Given the description of an element on the screen output the (x, y) to click on. 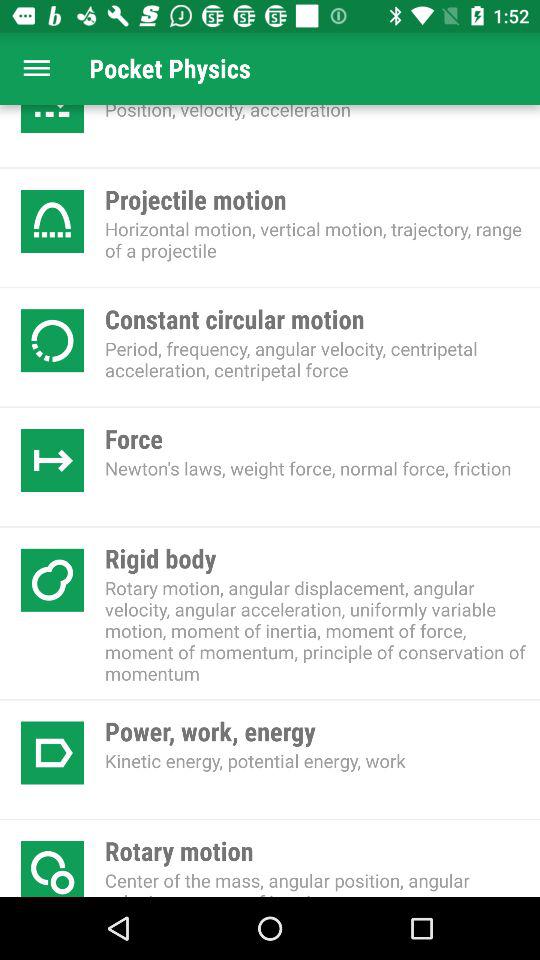
shows the main menu (36, 68)
